Given the description of an element on the screen output the (x, y) to click on. 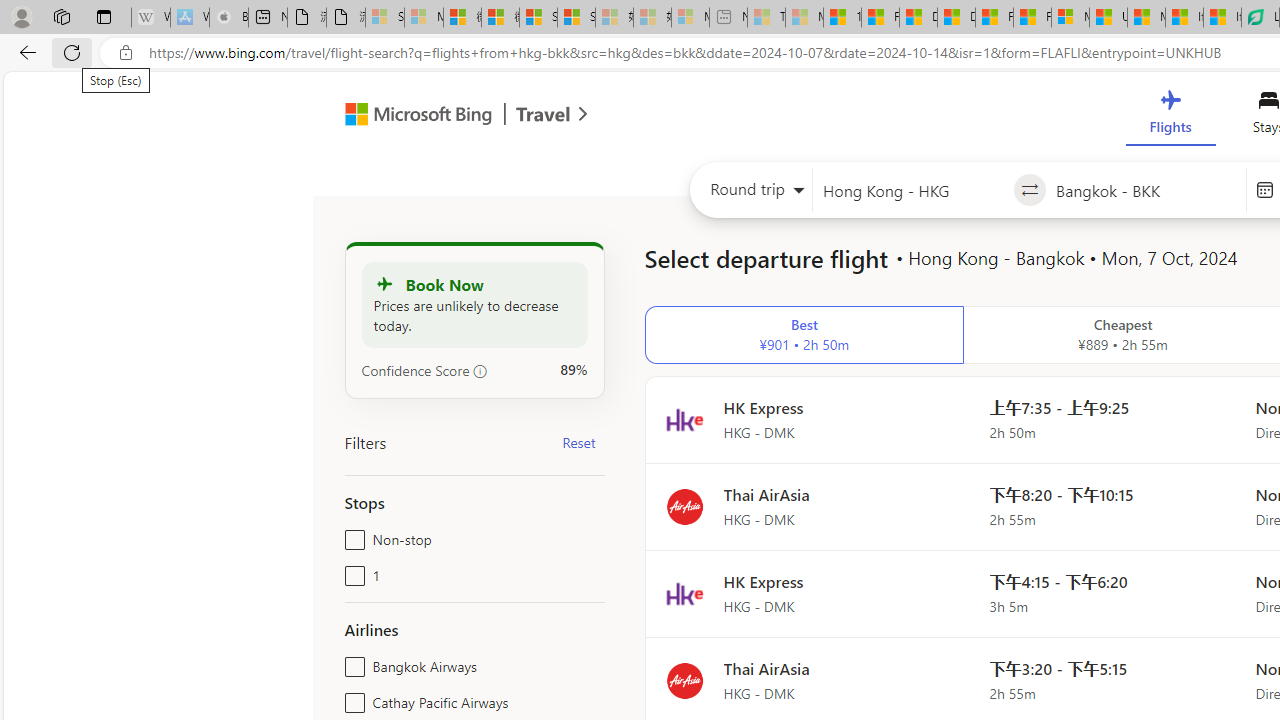
Microsoft Bing (410, 116)
Foo BAR | Trusted Community Engagement and Contributions (1031, 17)
Going to? (1145, 190)
